Given the description of an element on the screen output the (x, y) to click on. 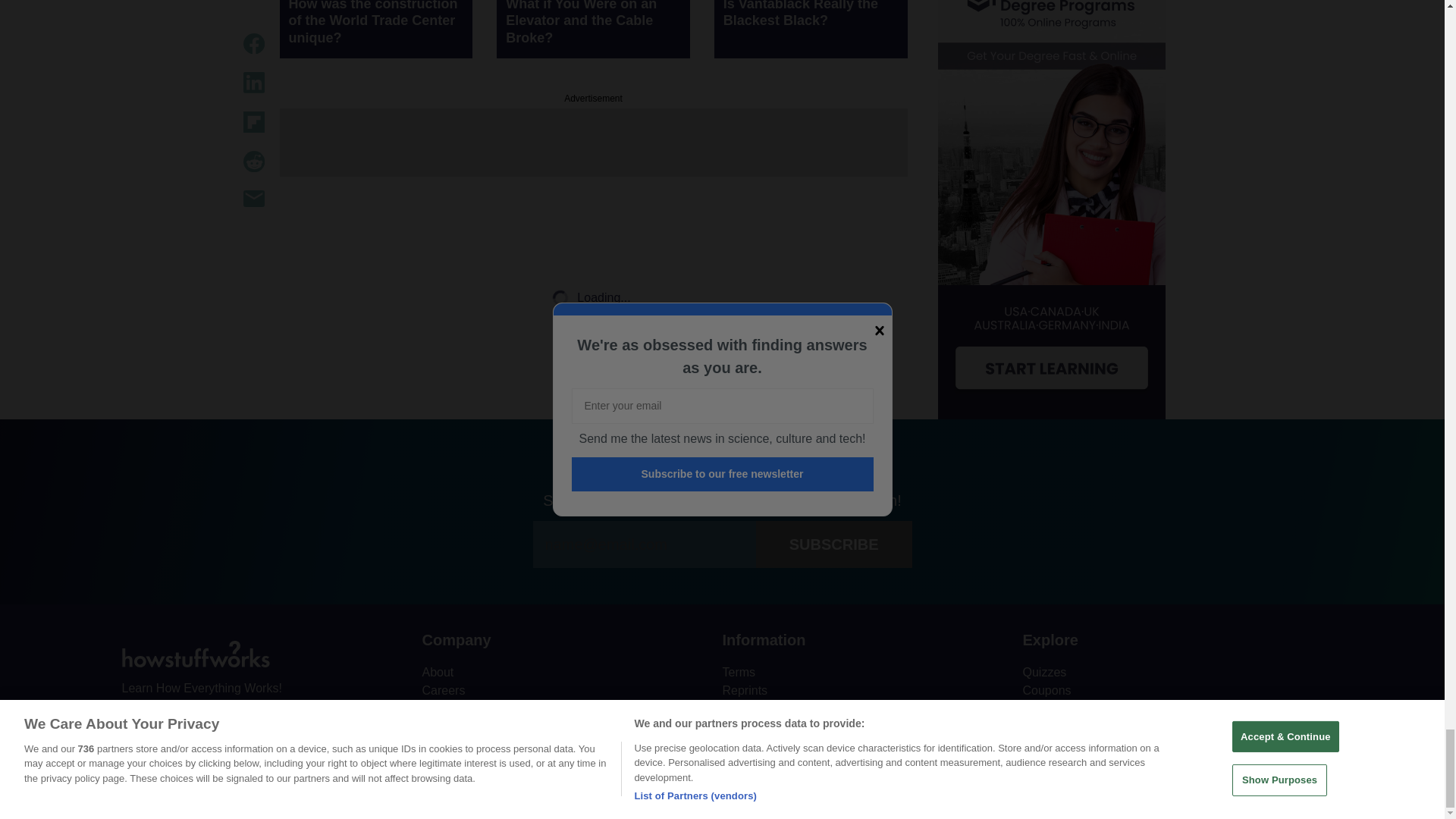
Visit HowStuffWorks on Facebook (134, 723)
Subscribe (833, 544)
Visit HowStuffWorks on YouTube (173, 723)
Visit HowStuffWorks on Instagram (213, 723)
